Given the description of an element on the screen output the (x, y) to click on. 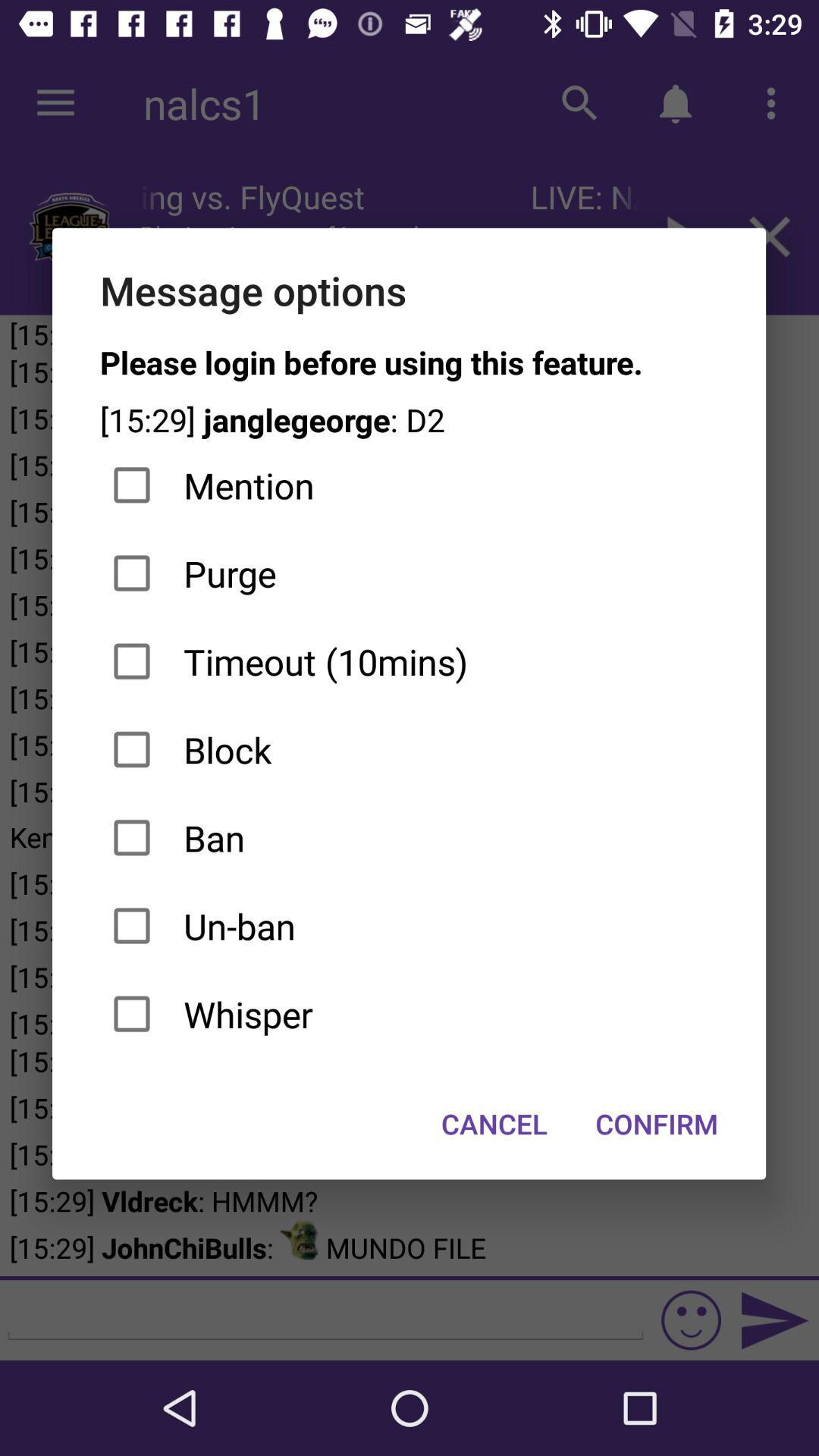
turn on item above the ban item (409, 749)
